Given the description of an element on the screen output the (x, y) to click on. 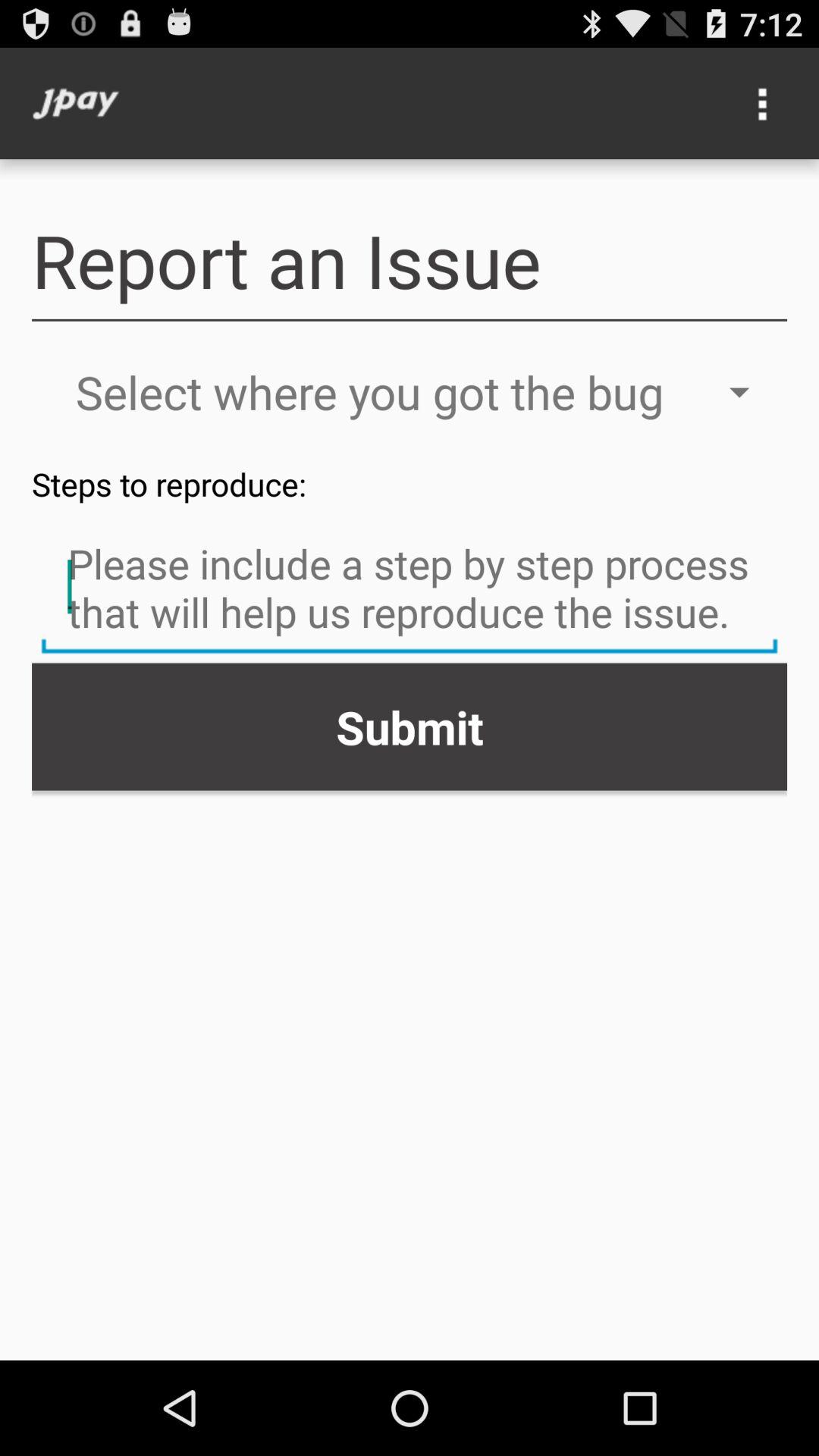
settings (763, 103)
